Given the description of an element on the screen output the (x, y) to click on. 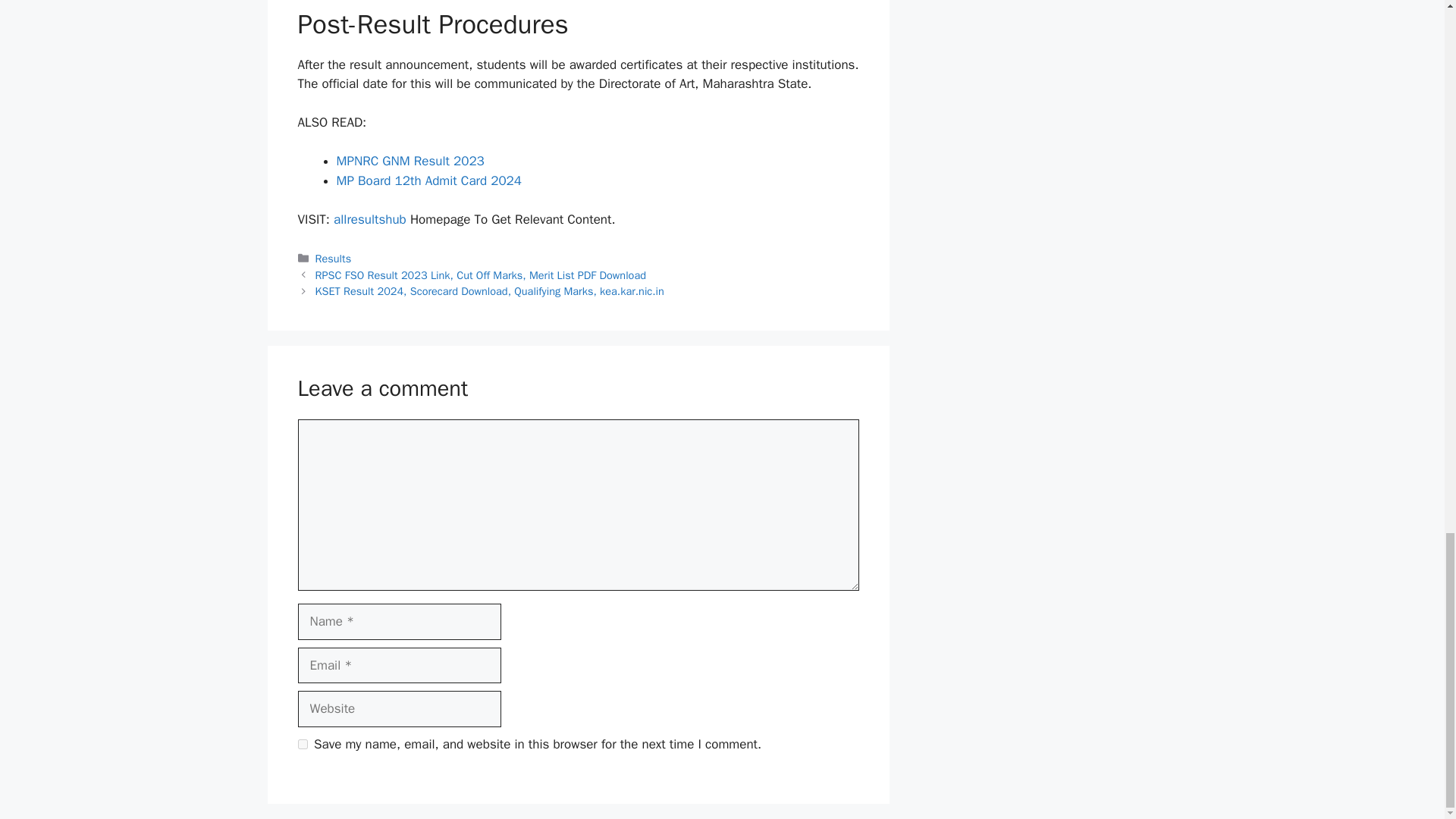
yes (302, 744)
allresultshub (369, 219)
MP Board 12th Admit Card 2024 (429, 180)
MPNRC GNM Result 2023 (410, 160)
Results (333, 258)
